Given the description of an element on the screen output the (x, y) to click on. 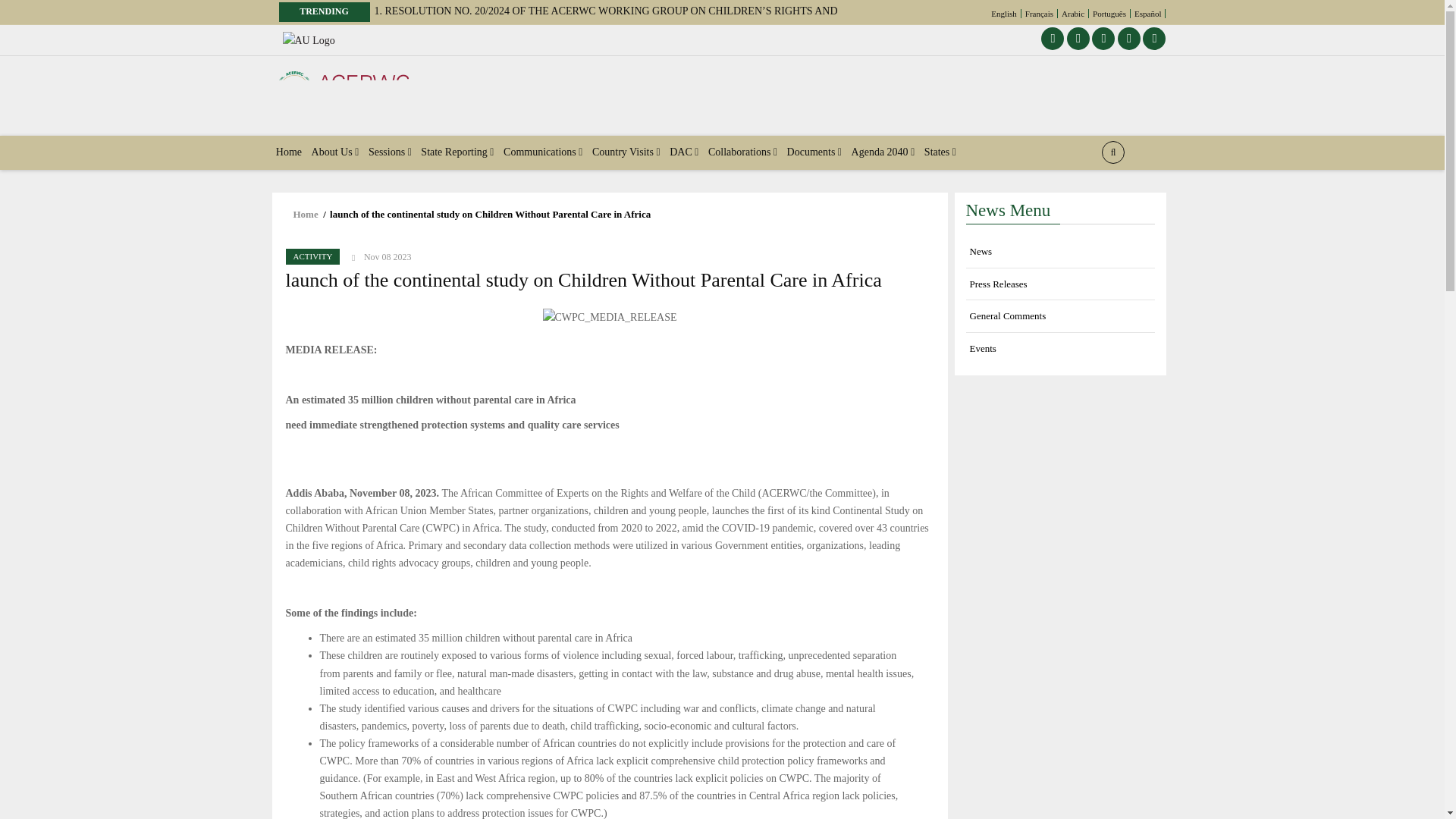
Home (342, 89)
State Reporting (457, 151)
Home (288, 151)
English (1004, 13)
Sessions (390, 151)
Arabic (1073, 13)
About Us (333, 151)
